Given the description of an element on the screen output the (x, y) to click on. 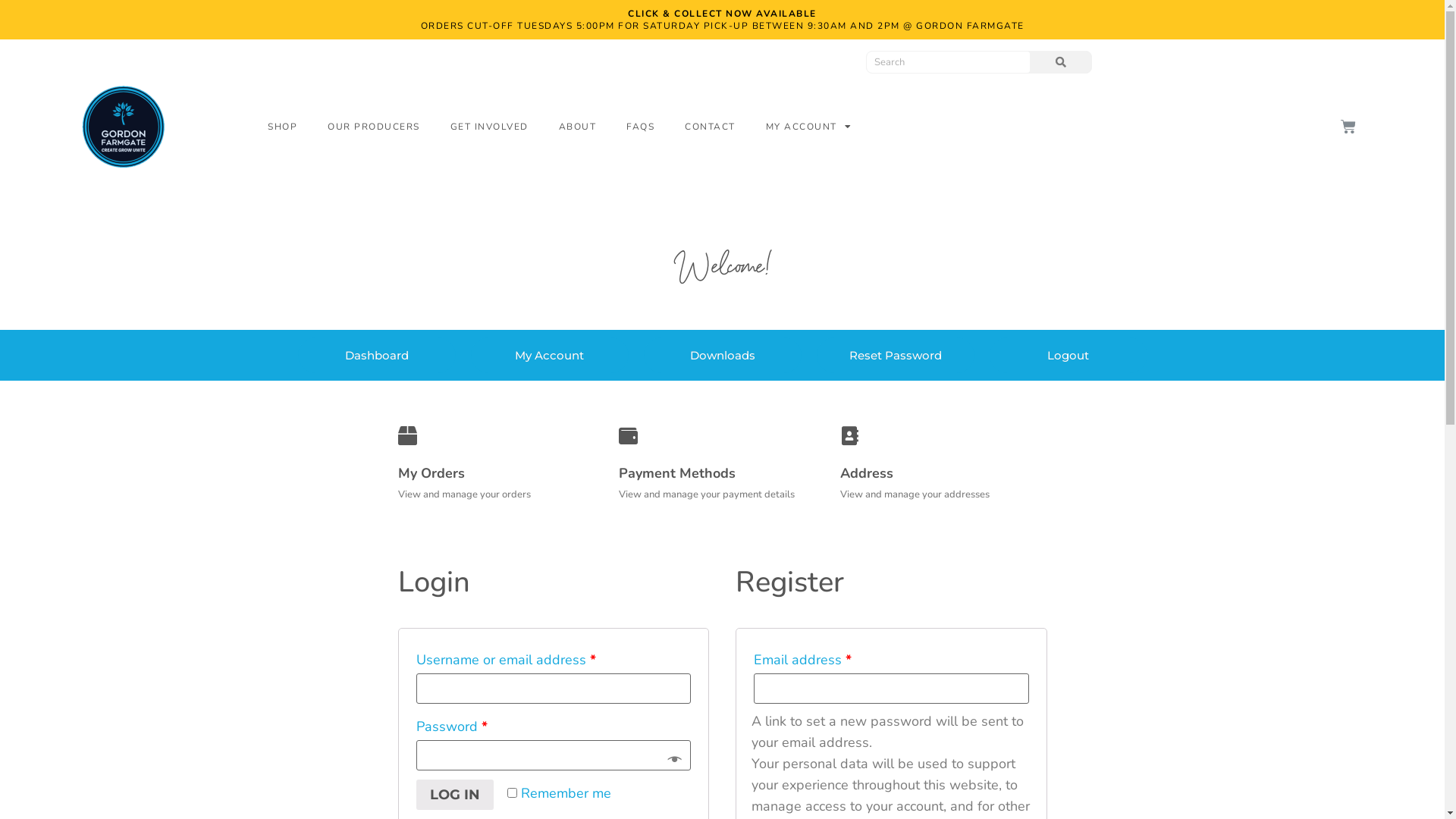
LOG IN Element type: text (453, 794)
My Orders Element type: text (430, 473)
Search Element type: hover (1060, 61)
Reset Password Element type: text (894, 355)
SHOP Element type: text (282, 126)
My Account Element type: text (548, 355)
Search Element type: hover (947, 61)
OUR PRODUCERS Element type: text (373, 126)
GET INVOLVED Element type: text (489, 126)
Payment Methods Element type: text (676, 473)
ABOUT Element type: text (577, 126)
MY ACCOUNT Element type: text (808, 126)
FAQS Element type: text (640, 126)
Logout Element type: text (1067, 355)
CONTACT Element type: text (709, 126)
Dashboard Element type: text (376, 355)
Downloads Element type: text (721, 355)
Address Element type: text (866, 473)
cropped-GFG-Logo-1-2-e1578872429667-3.png Element type: hover (122, 126)
